Given the description of an element on the screen output the (x, y) to click on. 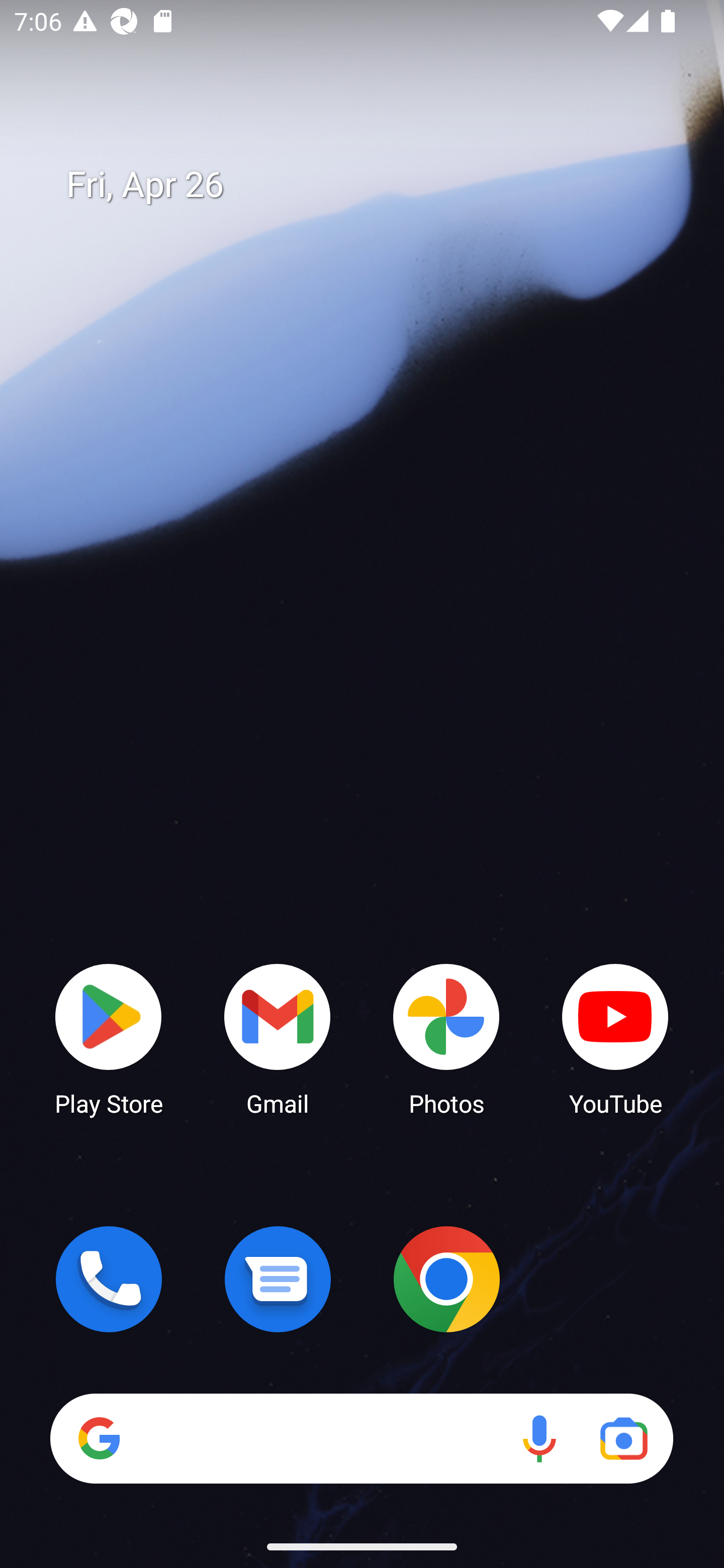
Fri, Apr 26 (375, 184)
Play Store (108, 1038)
Gmail (277, 1038)
Photos (445, 1038)
YouTube (615, 1038)
Phone (108, 1279)
Messages (277, 1279)
Chrome (446, 1279)
Search Voice search Google Lens (361, 1438)
Voice search (539, 1438)
Google Lens (623, 1438)
